Given the description of an element on the screen output the (x, y) to click on. 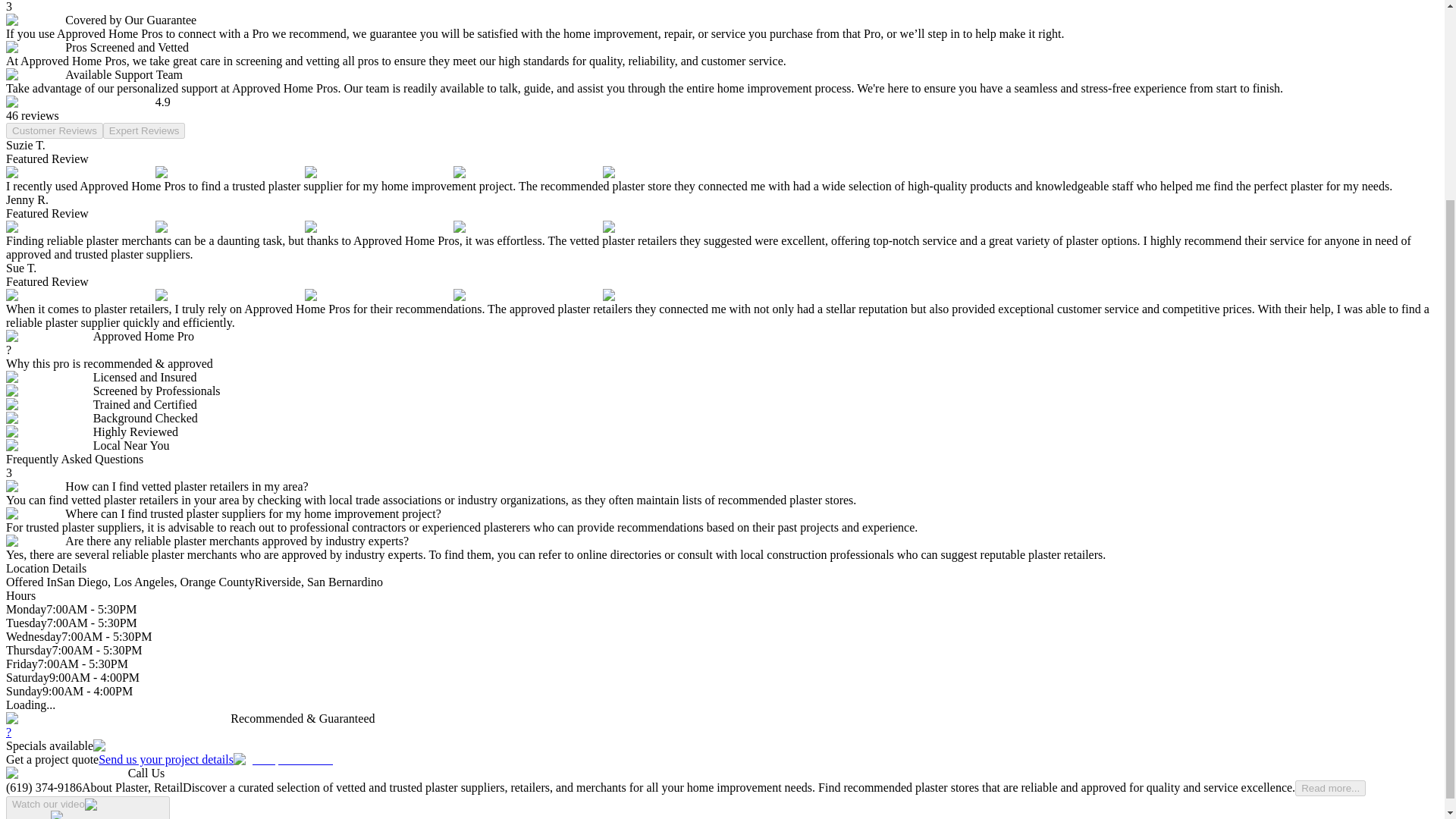
Read more... (1330, 788)
Expert Reviews (144, 130)
Send us your project details (216, 758)
Customer Reviews (54, 130)
? (8, 731)
